Given the description of an element on the screen output the (x, y) to click on. 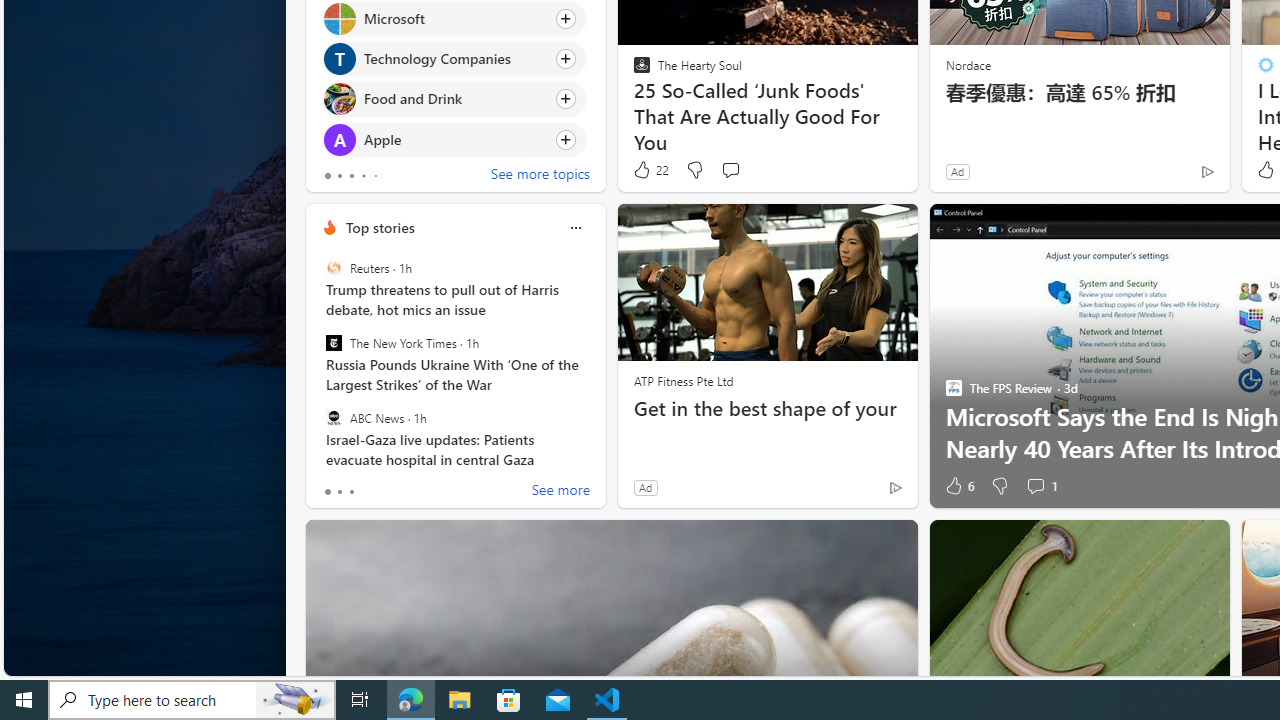
Click to follow topic Apple (453, 138)
The New York Times (333, 343)
Click to follow topic Microsoft (453, 18)
Reuters (333, 268)
Get in the best shape of your (767, 408)
ATP Fitness Pte Ltd (683, 380)
Click to follow topic Technology Companies (453, 59)
See more topics (540, 175)
tab-0 (327, 491)
tab-3 (363, 175)
tab-1 (338, 491)
